Given the description of an element on the screen output the (x, y) to click on. 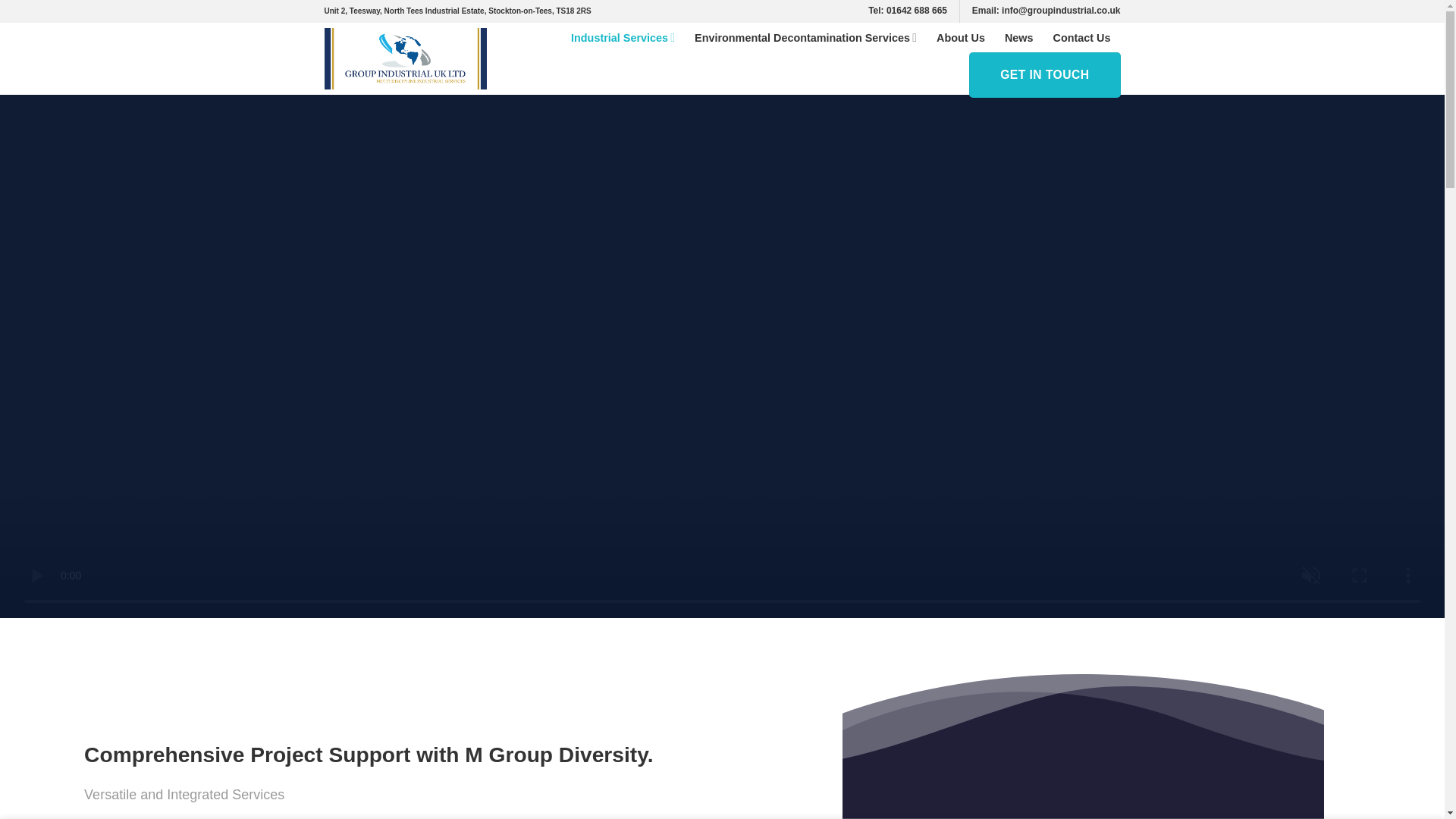
Environmental Decontamination Services (805, 37)
Industrial Services (622, 37)
Contact Us (1081, 37)
GET IN TOUCH (1044, 74)
News (1018, 37)
About Us (960, 37)
